Given the description of an element on the screen output the (x, y) to click on. 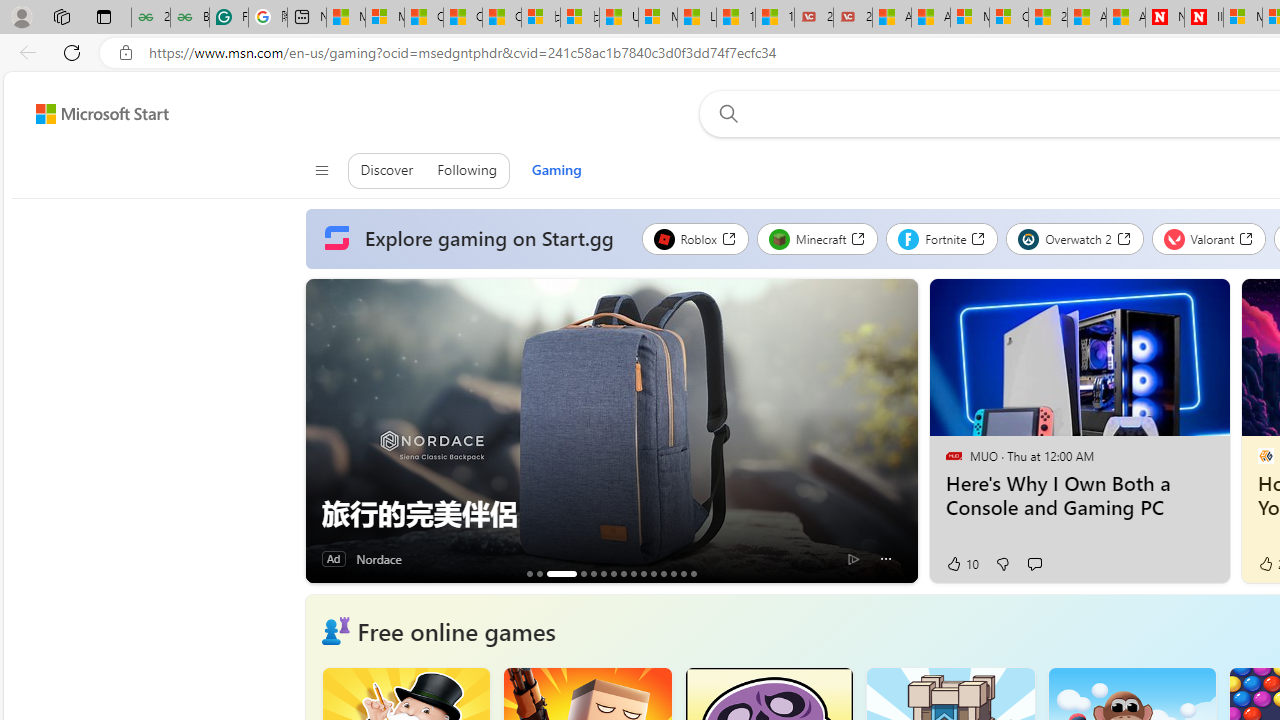
25 Basic Linux Commands For Beginners - GeeksforGeeks (150, 17)
Lifestyle - MSN (696, 17)
Roblox (694, 238)
Next slide (902, 431)
